Given the description of an element on the screen output the (x, y) to click on. 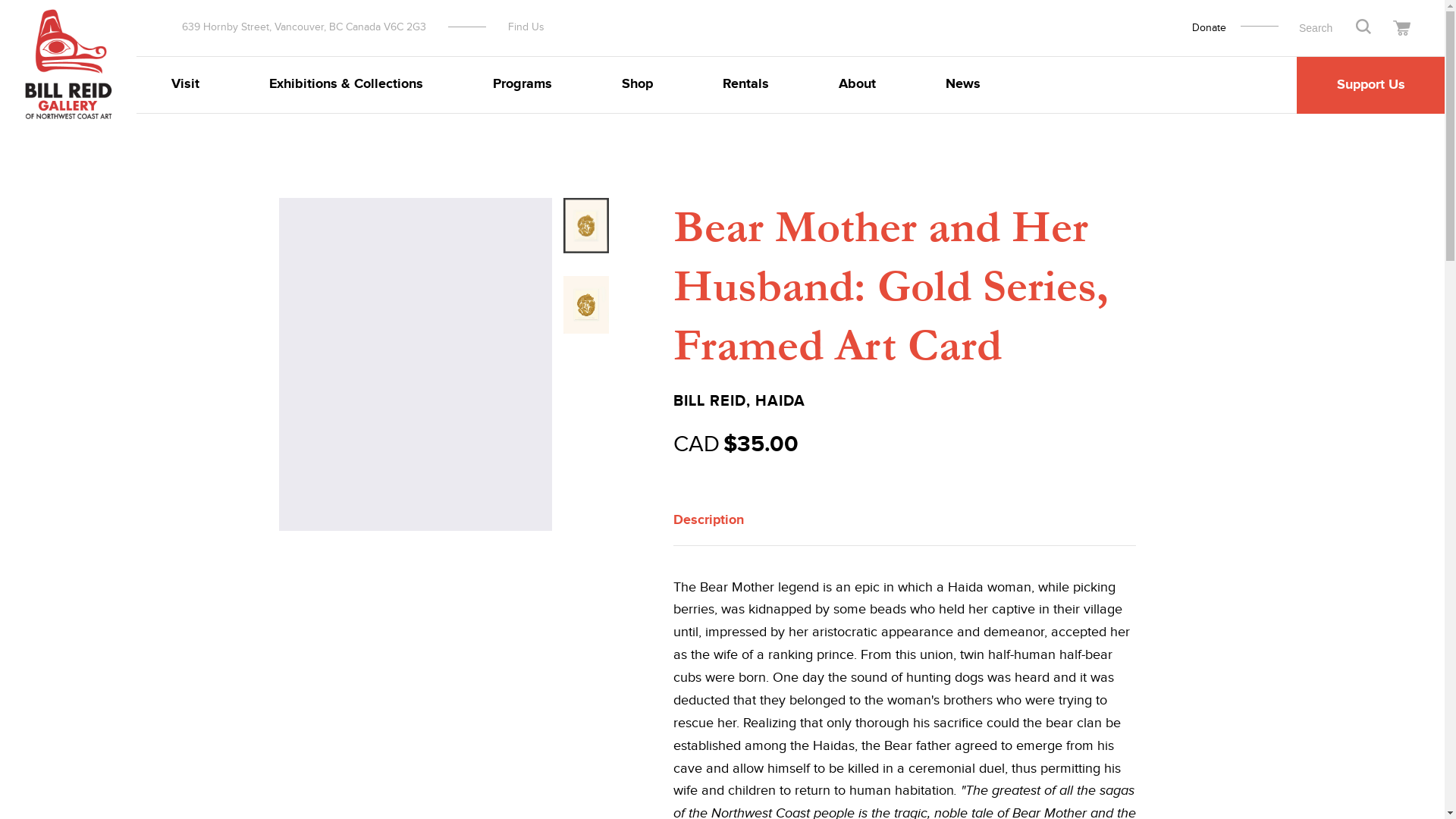
Shop Element type: text (636, 84)
Rentals Element type: text (745, 84)
Exhibitions & Collections Element type: text (346, 84)
Search Element type: text (1363, 26)
Visit Element type: text (185, 84)
Find Us Element type: text (526, 27)
News Element type: text (962, 84)
About Element type: text (856, 84)
Programs Element type: text (522, 84)
Support Us Element type: text (1370, 84)
Donate Element type: text (1209, 27)
